Given the description of an element on the screen output the (x, y) to click on. 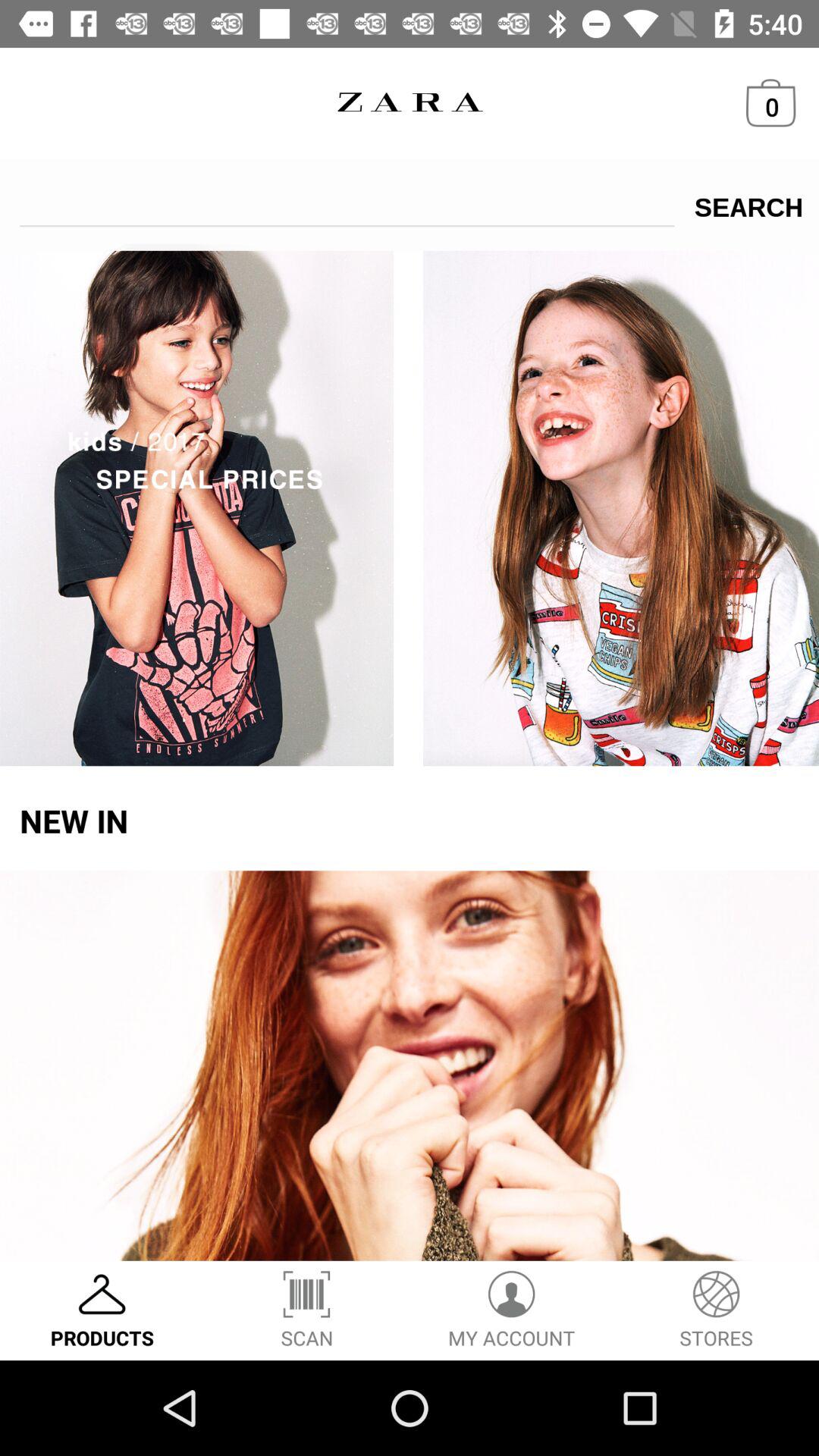
kids items (409, 504)
